Given the description of an element on the screen output the (x, y) to click on. 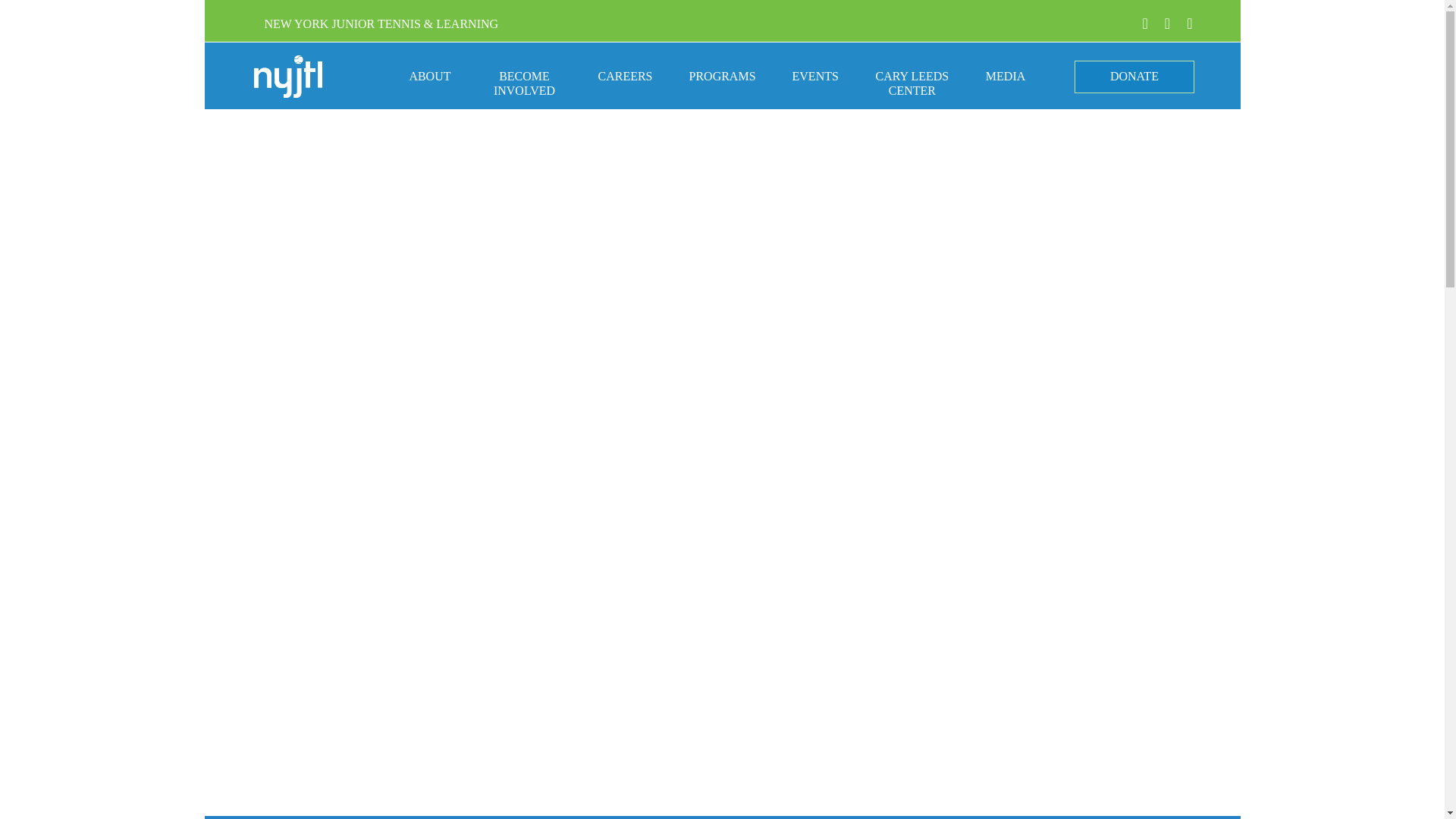
BECOME INVOLVED (523, 88)
ABOUT (429, 88)
PROGRAMS (721, 88)
CAREERS (624, 88)
EVENTS (815, 88)
